Given the description of an element on the screen output the (x, y) to click on. 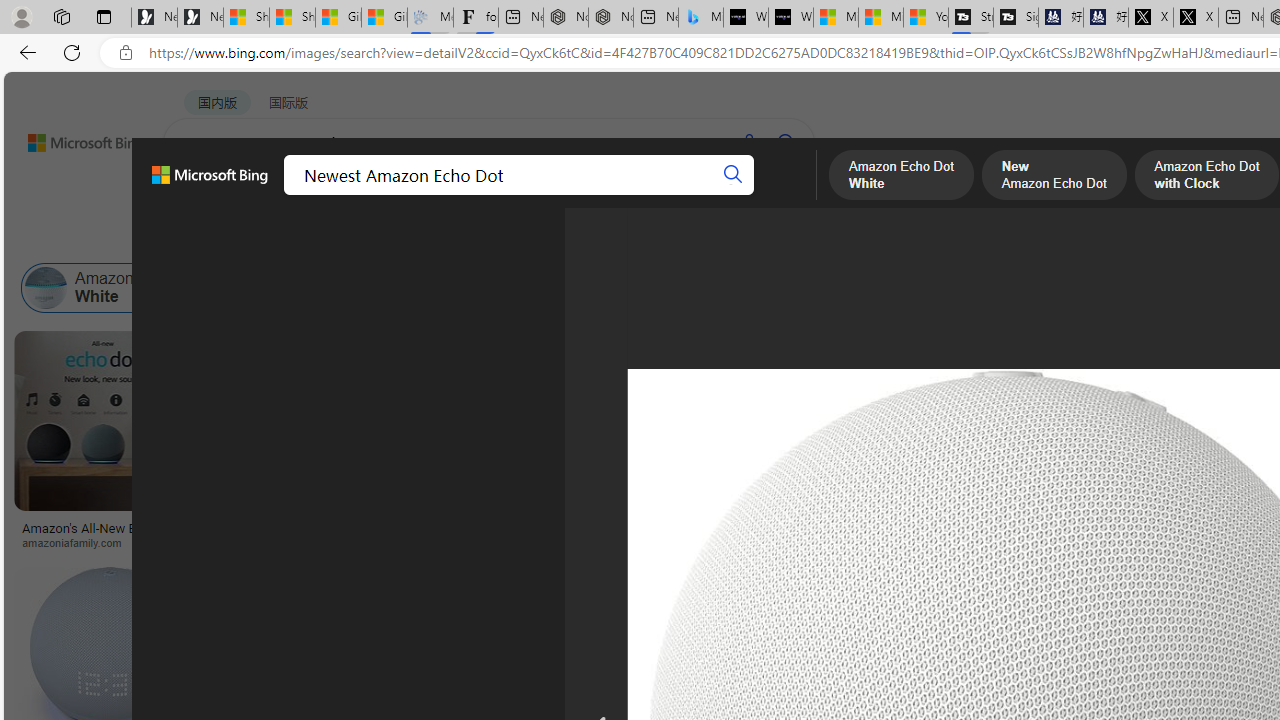
Color (305, 237)
MORE (779, 195)
Image result for Newest Amazon Echo Dot (965, 421)
reviewcentralme.com (628, 542)
Amazon Echo Dot 2 (758, 287)
parade.com (243, 541)
reviewcentralme.com (509, 541)
Amazon Echo Dot White (45, 287)
